Given the description of an element on the screen output the (x, y) to click on. 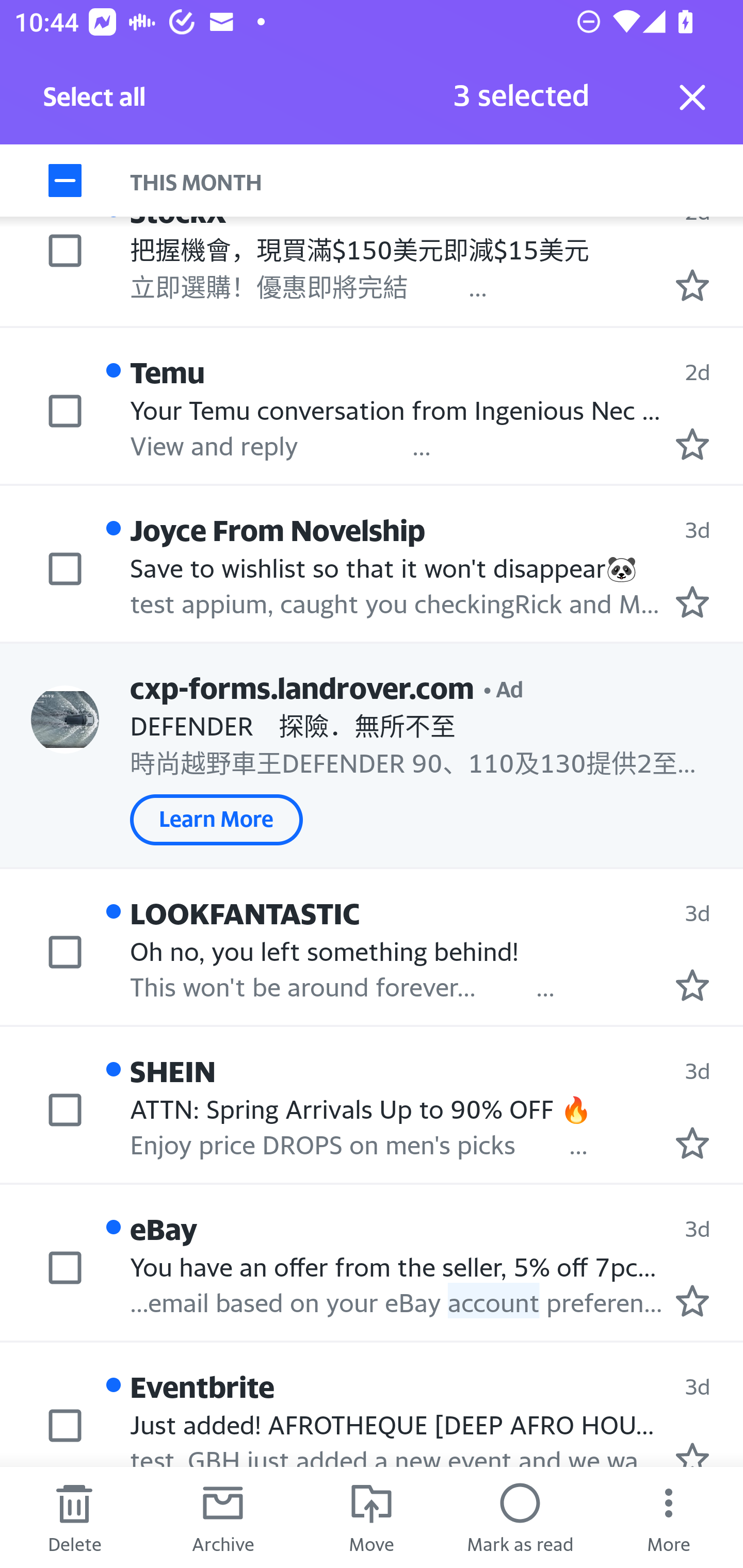
Exit selection mode (692, 97)
Select all (94, 101)
Mark as starred. (692, 284)
Mark as starred. (692, 444)
Mark as starred. (692, 601)
Mark as starred. (692, 985)
Mark as starred. (692, 1142)
Mark as starred. (692, 1300)
Mark as starred. (692, 1453)
Delete (74, 1517)
Archive (222, 1517)
Move (371, 1517)
Mark as read (519, 1517)
More (668, 1517)
